Given the description of an element on the screen output the (x, y) to click on. 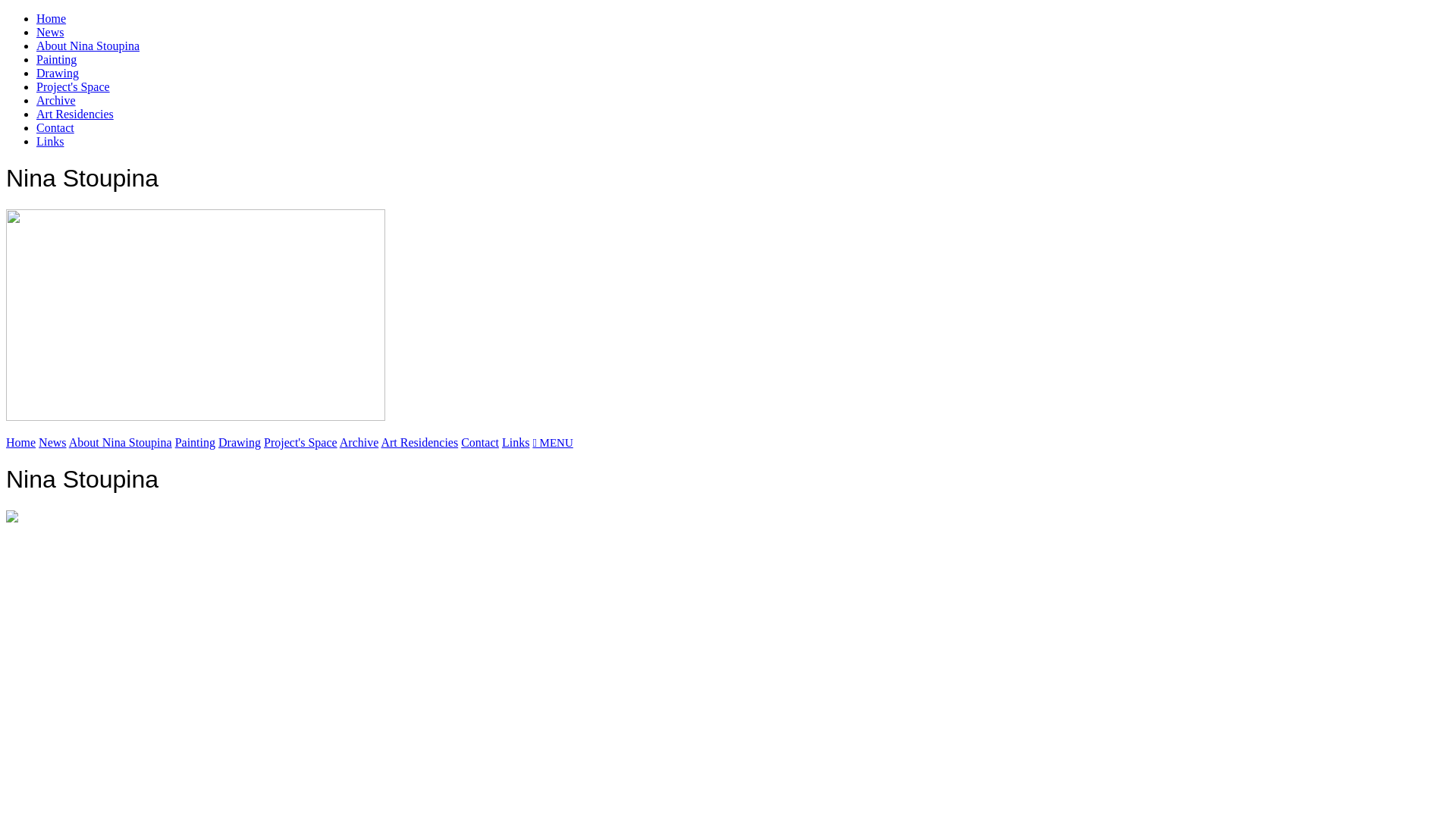
Home Element type: text (50, 18)
Archive Element type: text (359, 442)
Art Residencies Element type: text (419, 442)
Art Residencies Element type: text (74, 113)
Contact Element type: text (479, 442)
Contact Element type: text (55, 127)
Links Element type: text (49, 140)
Archive Element type: text (55, 100)
News Element type: text (51, 442)
Home Element type: text (20, 442)
Painting Element type: text (56, 59)
Drawing Element type: text (57, 72)
About Nina Stoupina Element type: text (120, 442)
About Nina Stoupina Element type: text (87, 45)
Project's Space Element type: text (72, 86)
Drawing Element type: text (239, 442)
Painting Element type: text (195, 442)
News Element type: text (49, 31)
Links Element type: text (515, 442)
Project's Space Element type: text (300, 442)
